Given the description of an element on the screen output the (x, y) to click on. 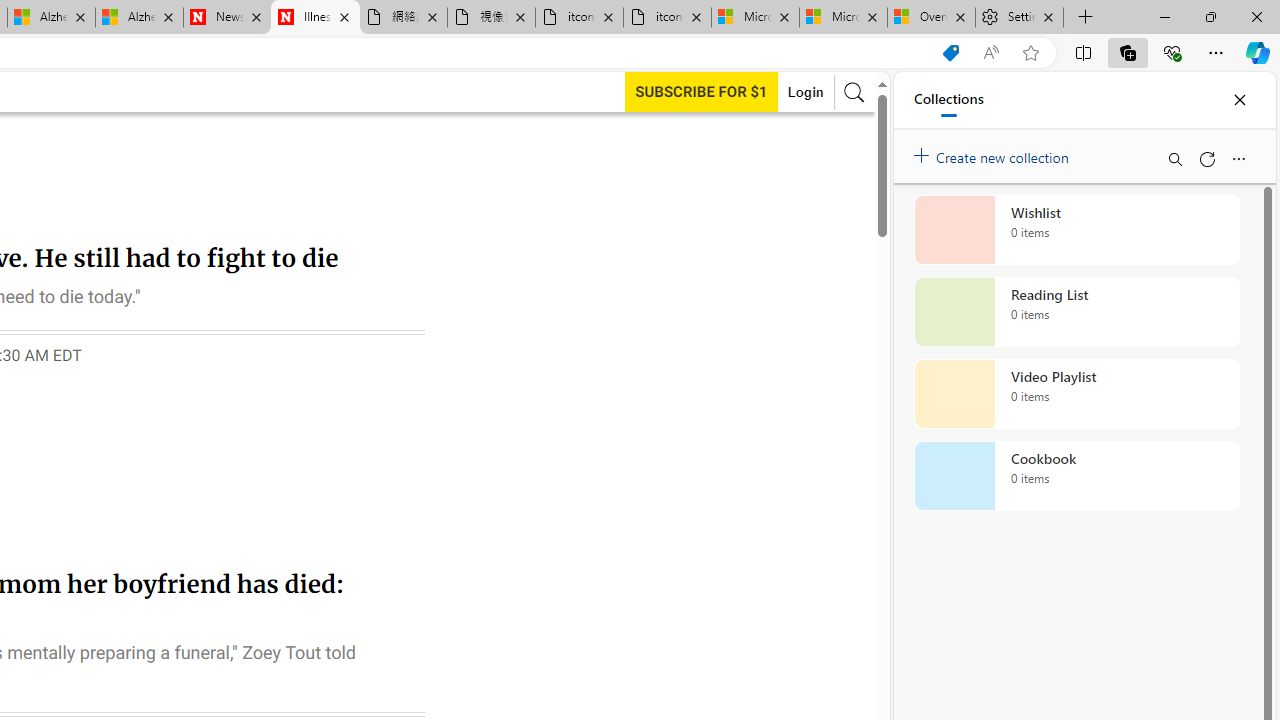
Subscribe to our service (701, 91)
Reading List collection, 0 items (1076, 312)
Overview (931, 17)
Illness news & latest pictures from Newsweek.com (315, 17)
